Given the description of an element on the screen output the (x, y) to click on. 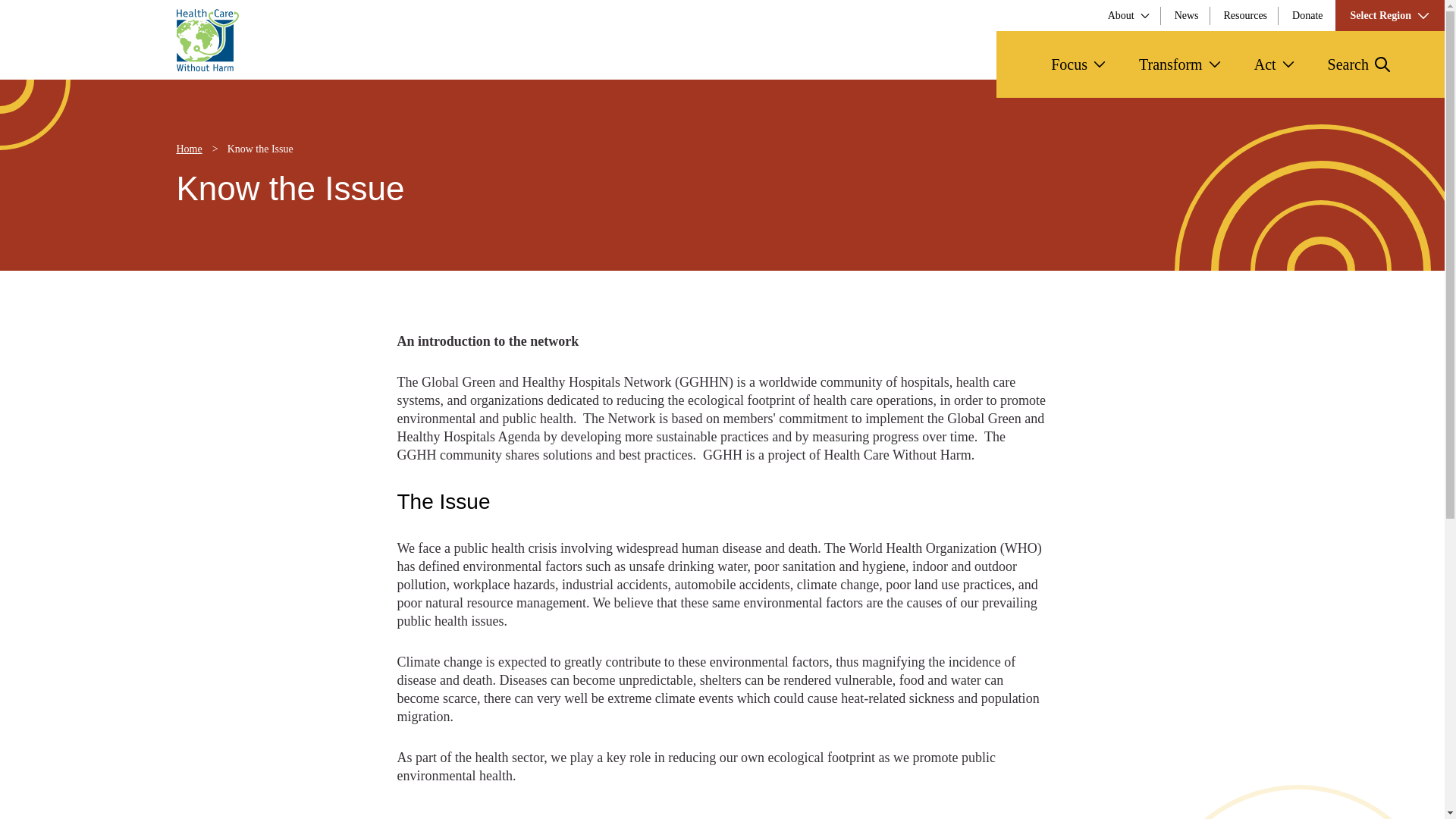
Donate (1307, 15)
Home (207, 40)
Resources (1246, 15)
Transform (1179, 64)
Skip to main content (60, 13)
Home (189, 149)
Search (1386, 134)
Search (1358, 64)
News (1186, 15)
About (1129, 15)
